Given the description of an element on the screen output the (x, y) to click on. 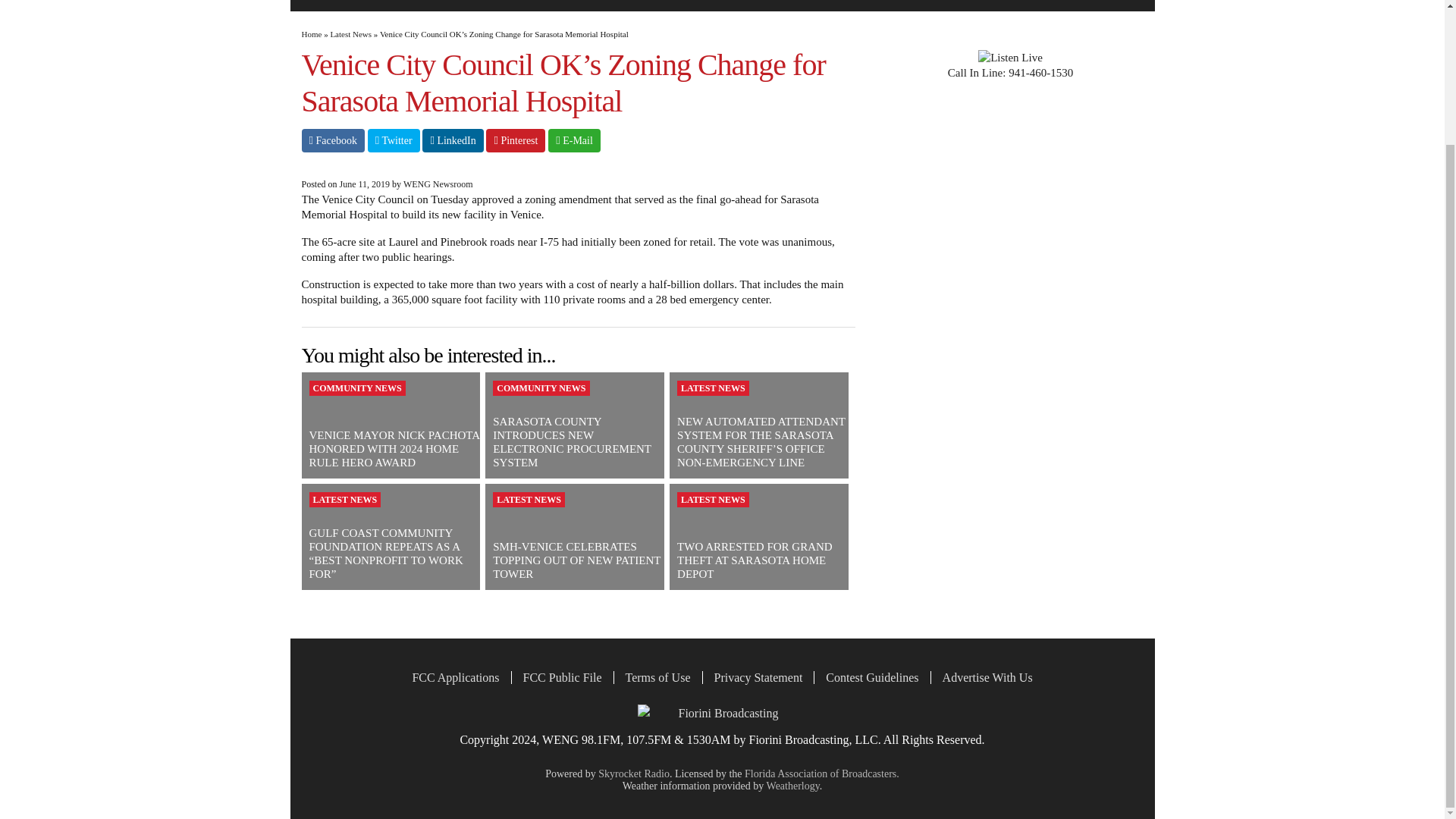
Share to Twitter (394, 140)
7:59 pm (364, 184)
Share to Facebook (333, 140)
Share to Pinterest (515, 140)
View all posts by WENG Newsroom (438, 184)
Share to E-Mail (573, 140)
Share to LinkedIn (452, 140)
